Given the description of an element on the screen output the (x, y) to click on. 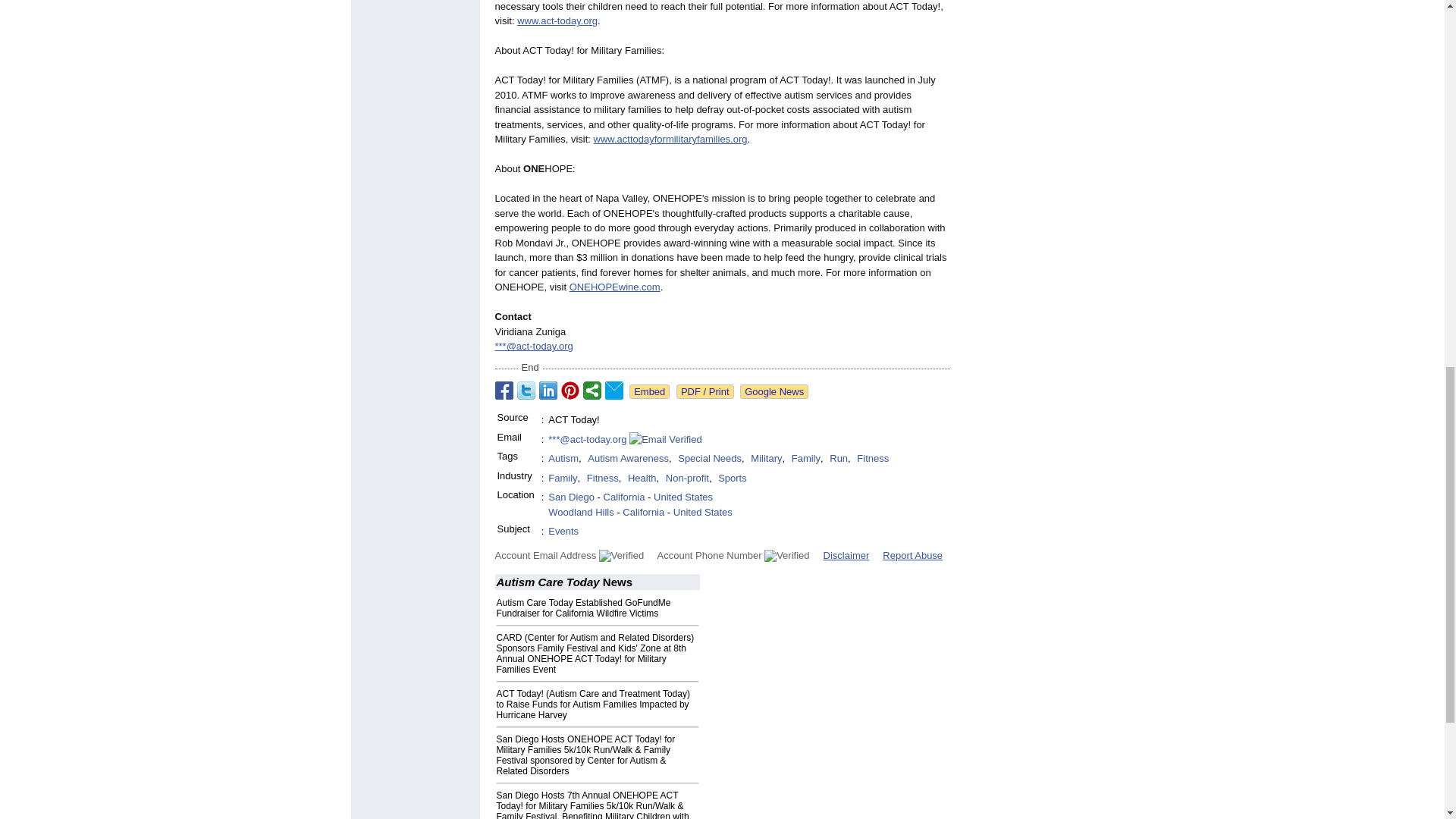
Share on Facebook (503, 390)
Verified (786, 555)
Share on Twitter (525, 390)
See or print the PDF version! (705, 391)
Share on LinkedIn (547, 390)
ONEHOPEwine.com (615, 286)
Email Verified (664, 439)
Verified (620, 555)
Share on Pinterest (569, 390)
www.acttodayformilitaryfamilies.org (671, 138)
Embed this press release in your website! (648, 391)
Email to a Friend (614, 390)
Share on StumbleUpon, Digg, etc (590, 390)
Embed (648, 391)
